Given the description of an element on the screen output the (x, y) to click on. 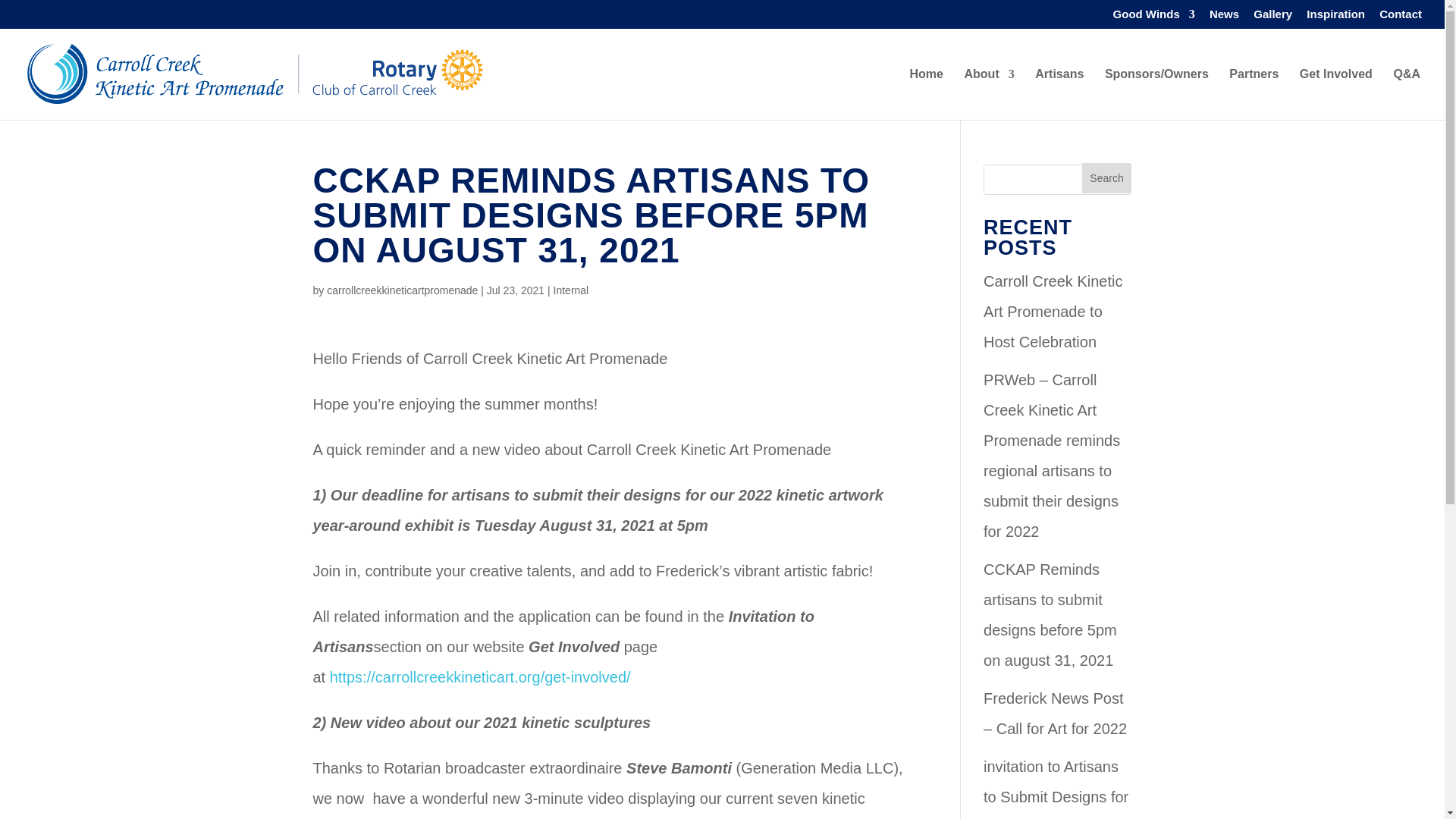
Inspiration (1335, 17)
Get Involved (1336, 92)
Good Winds (1154, 17)
Posts by carrollcreekkineticartpromenade (401, 290)
Artisans (1059, 92)
Gallery (1272, 17)
About (988, 92)
Search (1106, 177)
Contact (1400, 17)
News (1224, 17)
Partners (1253, 92)
